Given the description of an element on the screen output the (x, y) to click on. 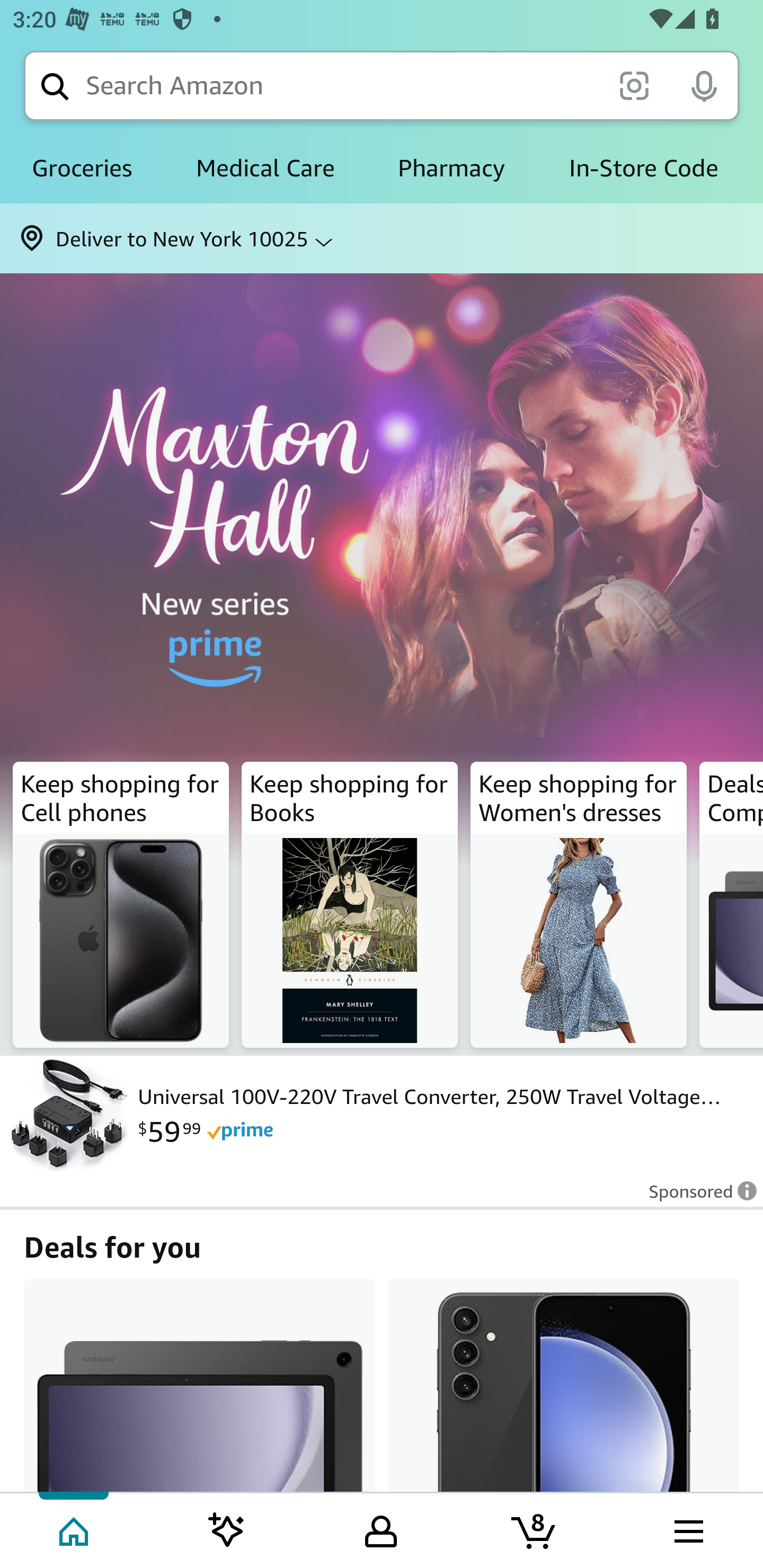
scan it (633, 85)
Groceries (82, 168)
Medical Care (265, 168)
Pharmacy (451, 168)
In-Store Code (643, 168)
Deliver to New York 10025 ⌵ (381, 237)
Keep shopping for Books Keep shopping for Books (349, 904)
Leave feedback on Sponsored ad Sponsored  (696, 1196)
Home Tab 1 of 5 (75, 1529)
Inspire feed Tab 2 of 5 (227, 1529)
Your Amazon.com Tab 3 of 5 (380, 1529)
Cart 8 items Tab 4 of 5 8 (534, 1529)
Browse menu Tab 5 of 5 (687, 1529)
